Given the description of an element on the screen output the (x, y) to click on. 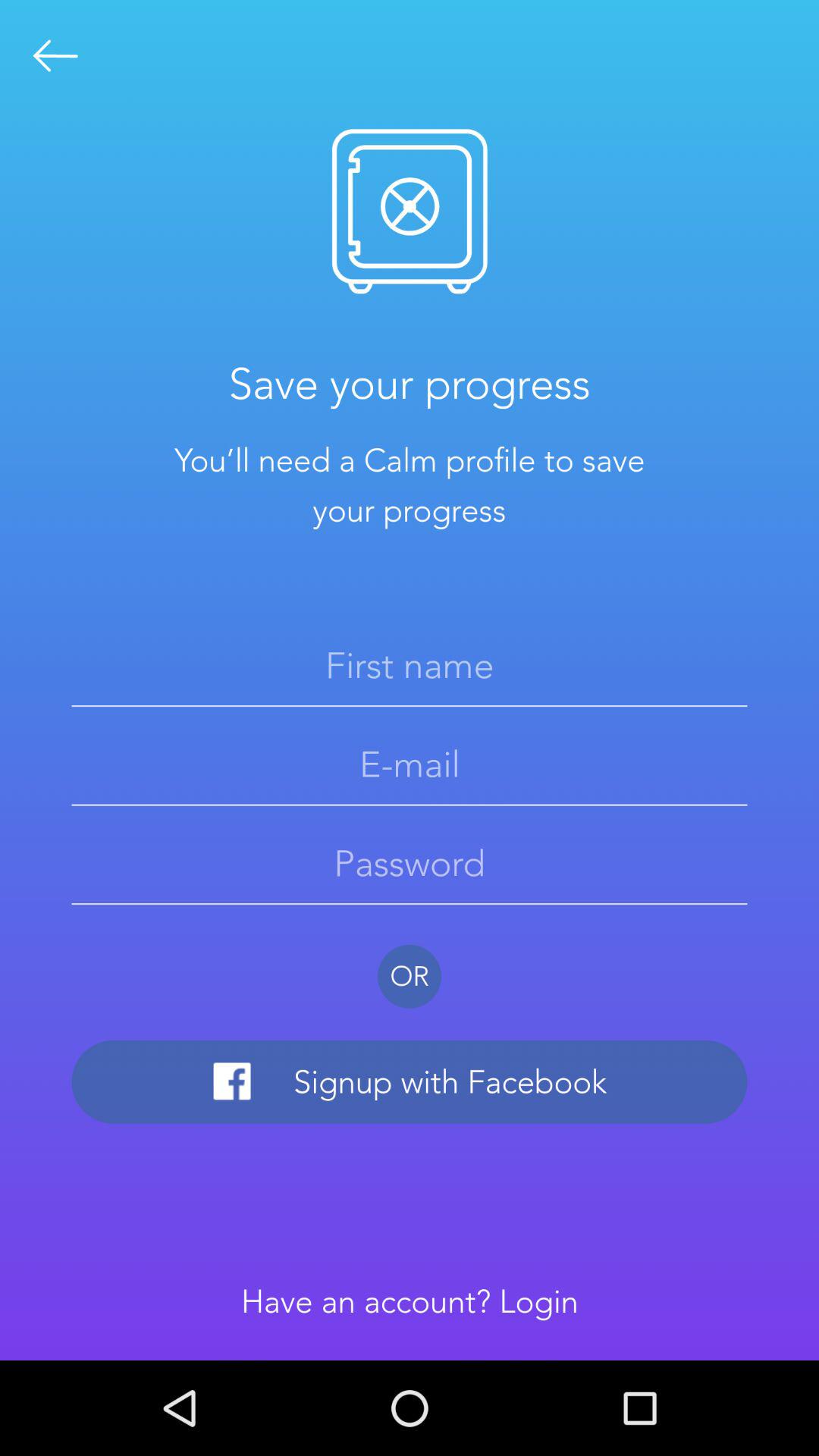
enter email (409, 763)
